Given the description of an element on the screen output the (x, y) to click on. 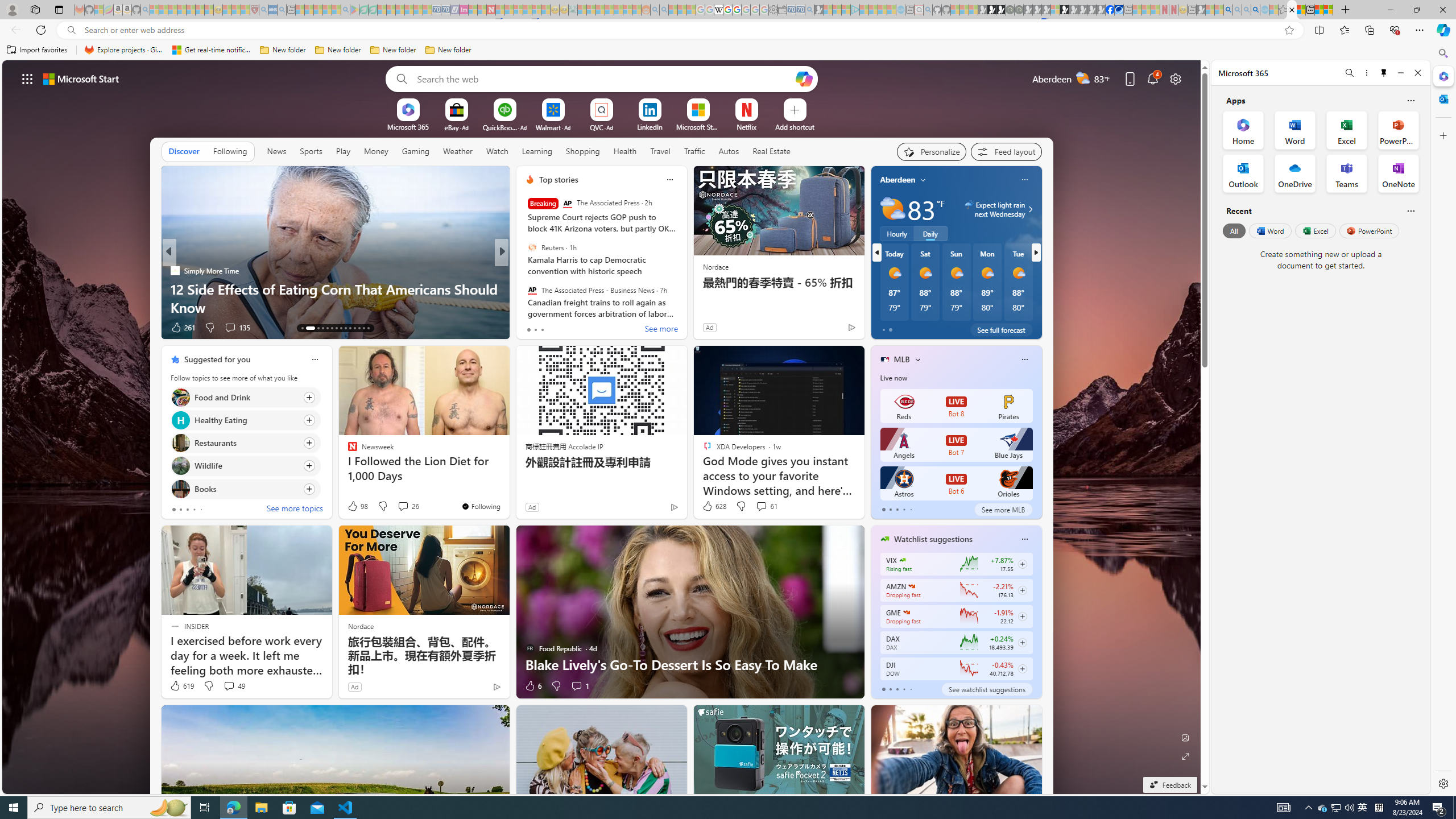
See more MLB (1003, 509)
tab-0 (882, 689)
AMAZON.COM, INC. (911, 586)
Real Estate (771, 151)
Wallet - Sleeping (782, 9)
My location (922, 179)
Partly sunny (892, 208)
New Report Confirms 2023 Was Record Hot | Watch - Sleeping (191, 9)
